Given the description of an element on the screen output the (x, y) to click on. 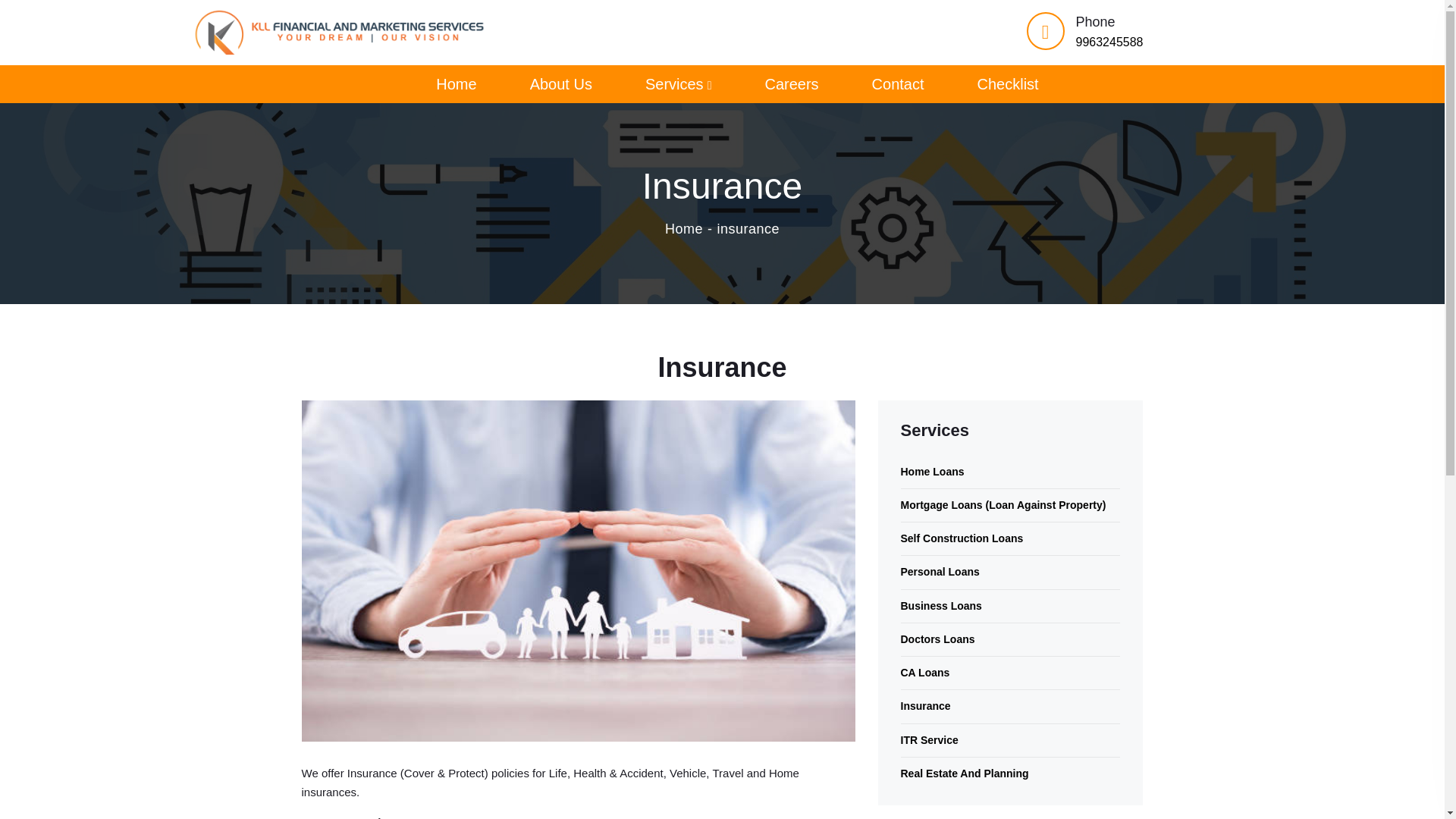
Services (678, 84)
Home (455, 84)
9963245588 (1108, 42)
Contact (898, 84)
Careers (791, 84)
About Us (560, 84)
Checklist (1007, 84)
